Given the description of an element on the screen output the (x, y) to click on. 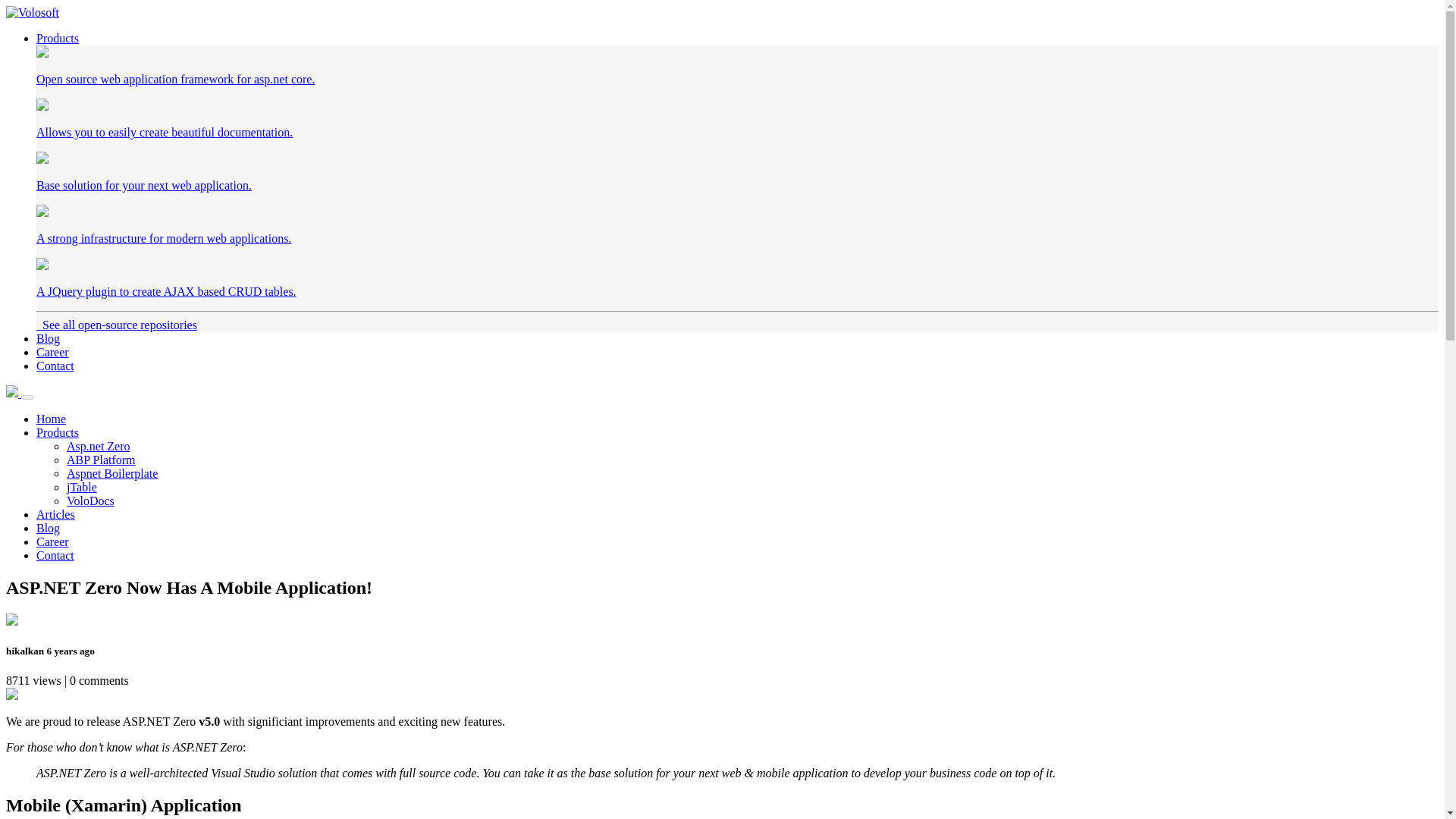
  See all open-source repositories (116, 324)
Articles (55, 513)
VoloDocs (90, 500)
Blog (47, 338)
Home (50, 418)
Asp.net Zero (98, 445)
Aspnet Boilerplate (111, 472)
Products (57, 431)
jTable (81, 486)
Contact (55, 554)
Contact (55, 365)
Career (52, 541)
Blog (47, 527)
Products (57, 38)
Career (52, 351)
